Given the description of an element on the screen output the (x, y) to click on. 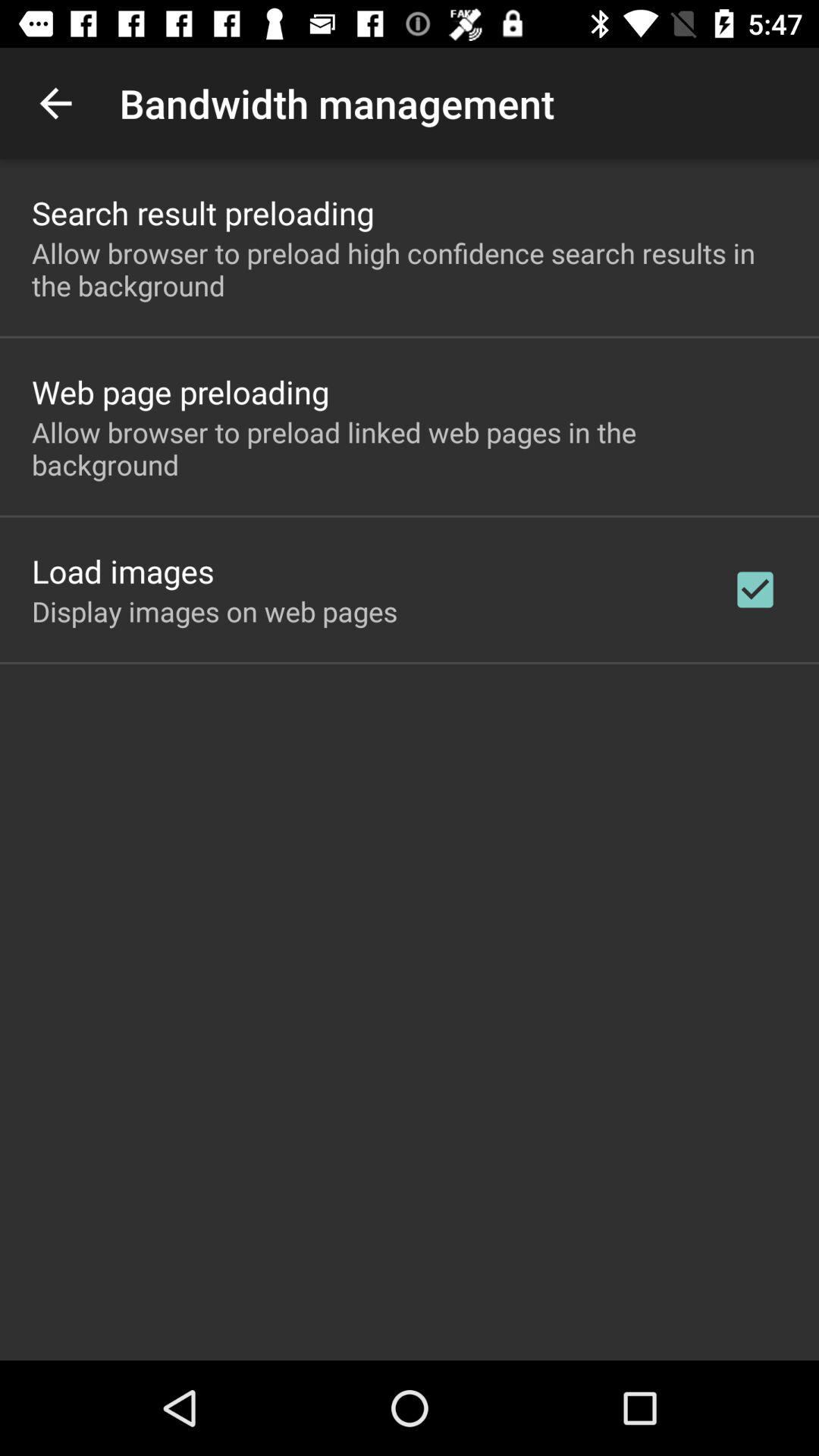
choose the item below allow browser to (180, 391)
